Given the description of an element on the screen output the (x, y) to click on. 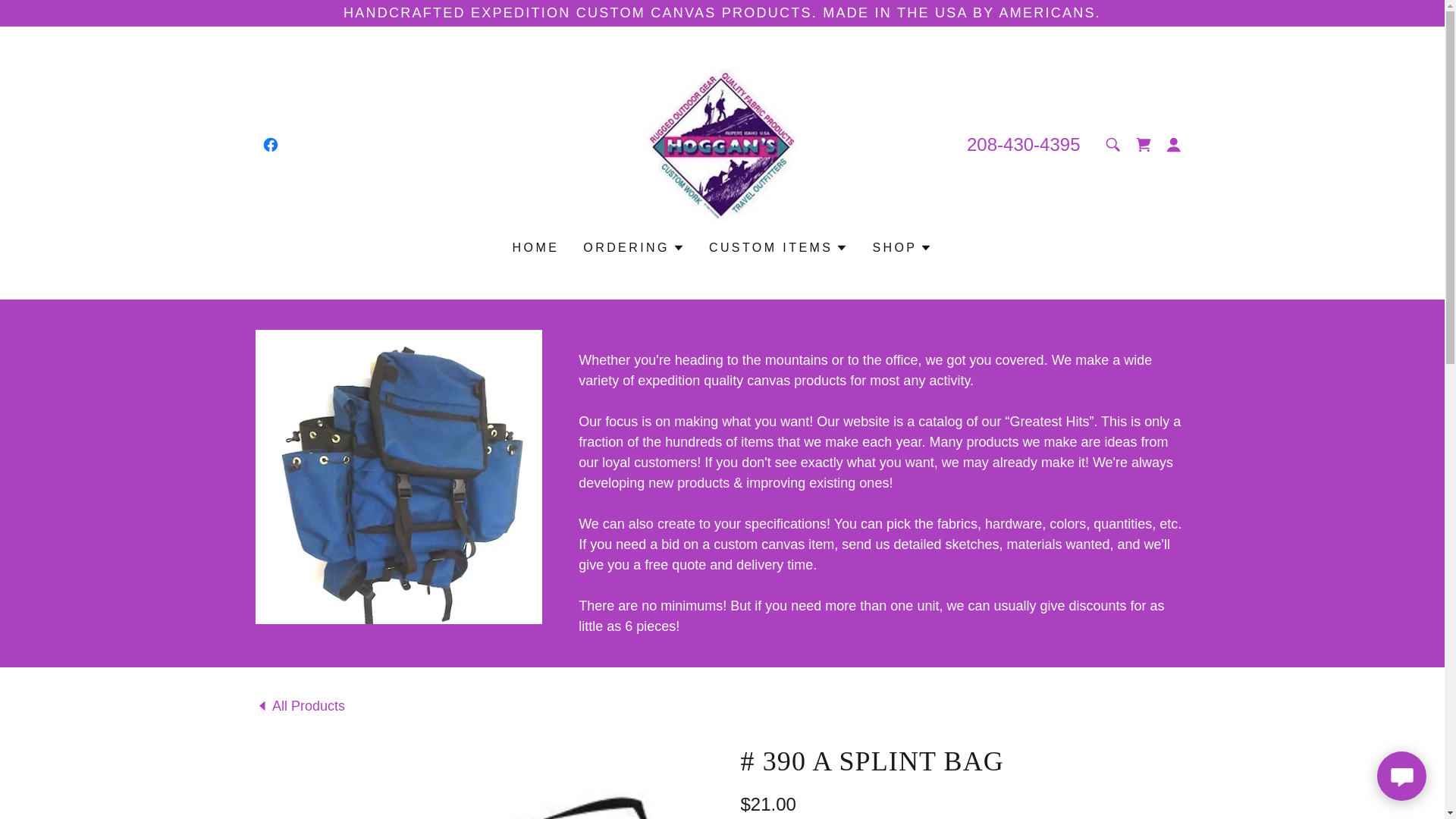
SHOP (901, 248)
CUSTOM ITEMS (778, 248)
208-430-4395 (1023, 144)
HOME (536, 247)
ORDERING (633, 248)
HOGGAN'S (721, 143)
